Given the description of an element on the screen output the (x, y) to click on. 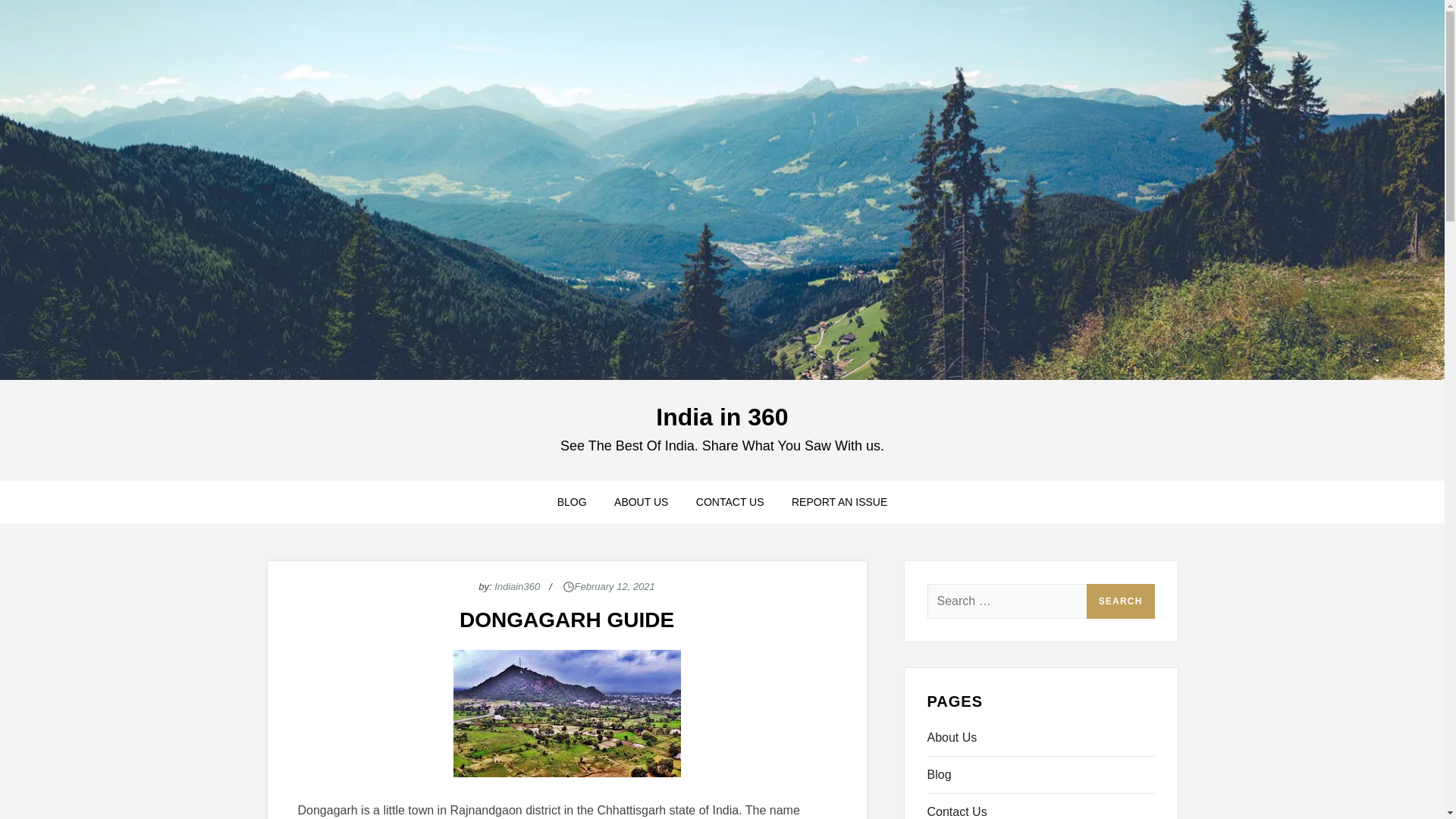
CONTACT US (730, 501)
February 12, 2021 (615, 586)
Search (1120, 601)
REPORT AN ISSUE (838, 501)
Search (1120, 601)
India in 360 (721, 416)
Contact Us (956, 810)
Search (1120, 601)
ABOUT US (640, 501)
Blog (938, 774)
Indiain360 (517, 586)
BLOG (571, 501)
About Us (951, 737)
